Given the description of an element on the screen output the (x, y) to click on. 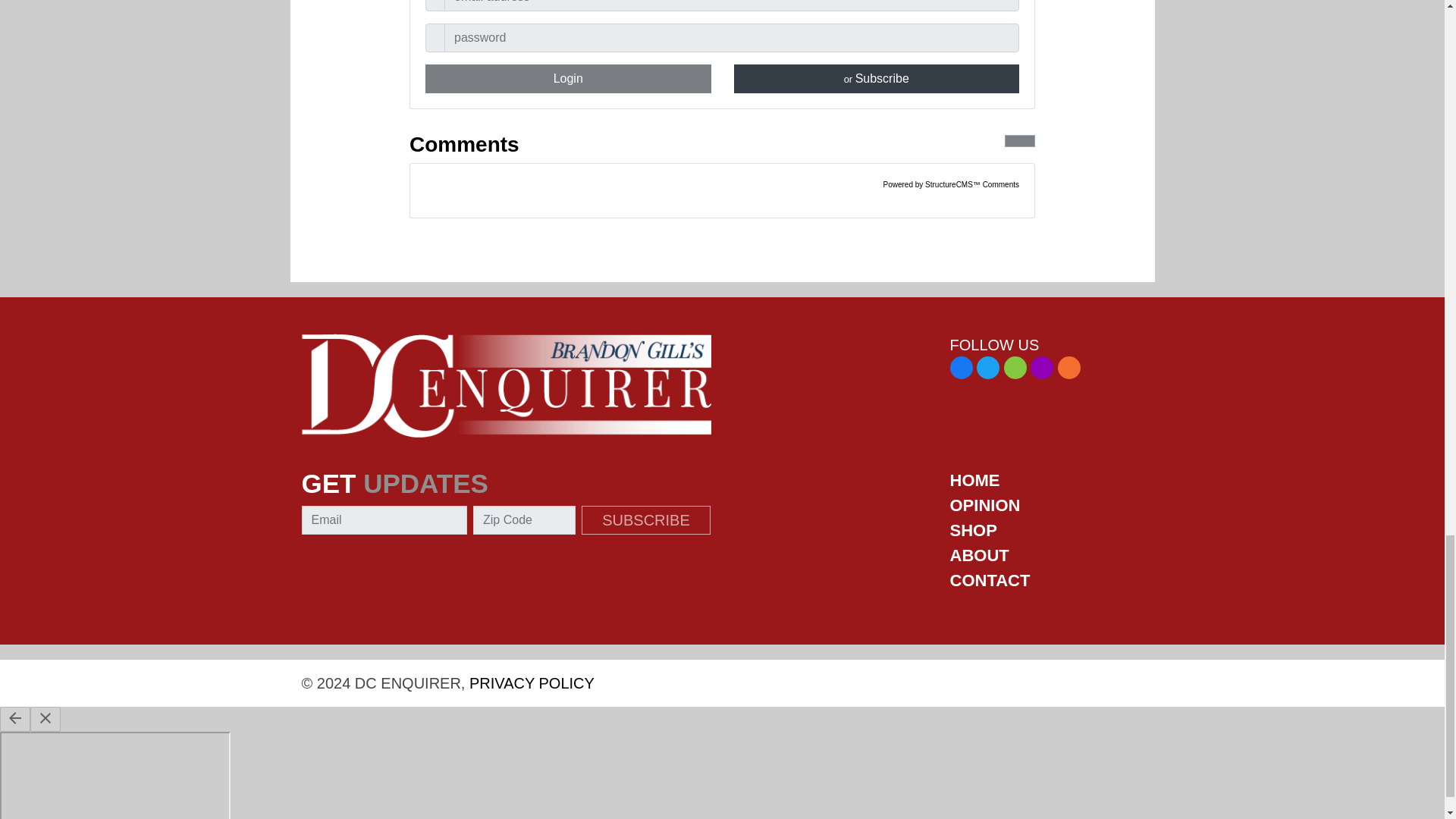
RSS (1069, 367)
Twitter (987, 367)
Truth (1041, 367)
Toggle Order (1019, 141)
Rumble (1015, 367)
or Subscribe (876, 78)
Login (568, 78)
Facebook (960, 367)
